Given the description of an element on the screen output the (x, y) to click on. 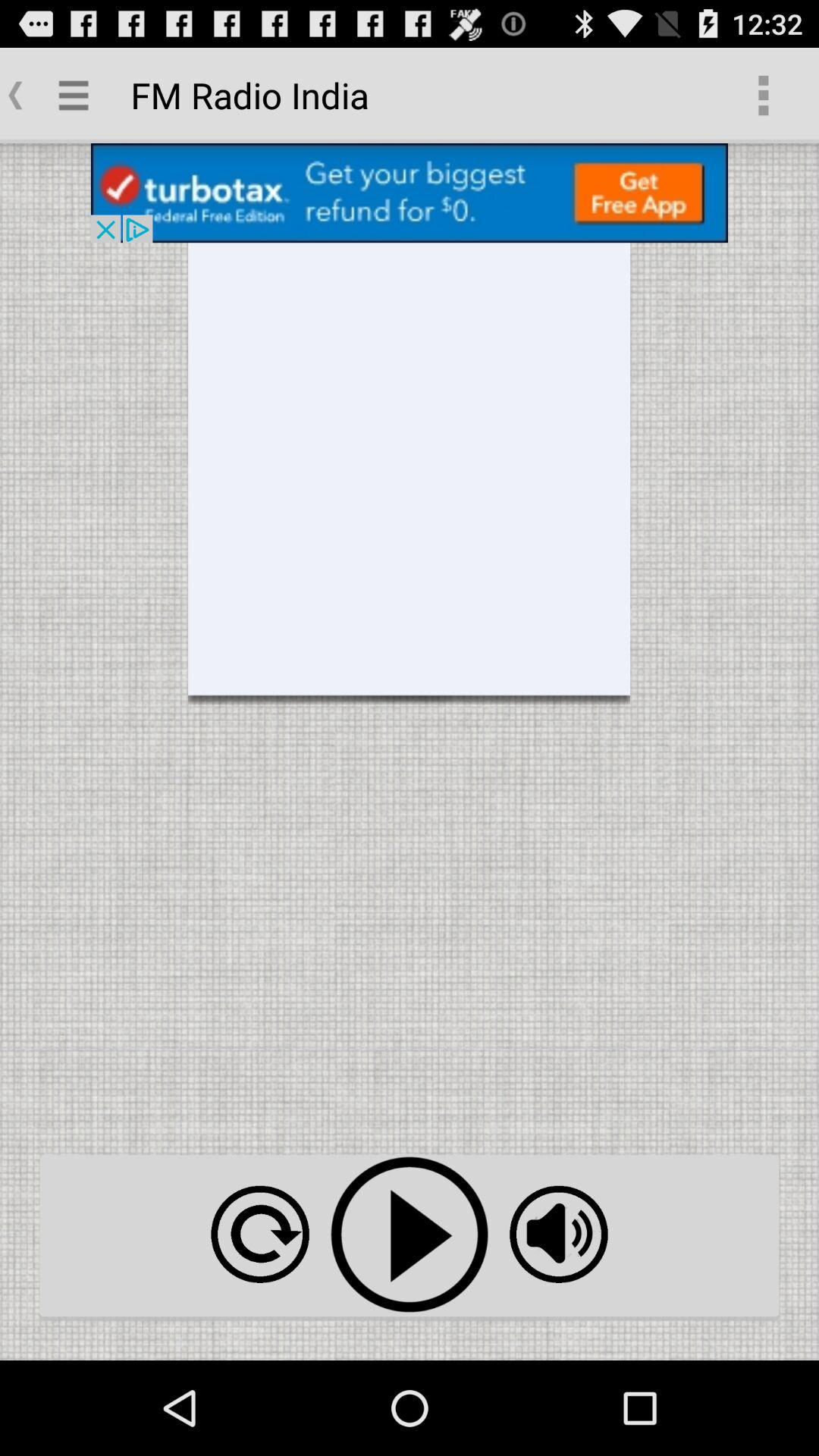
tap icon at the top right corner (763, 95)
